Given the description of an element on the screen output the (x, y) to click on. 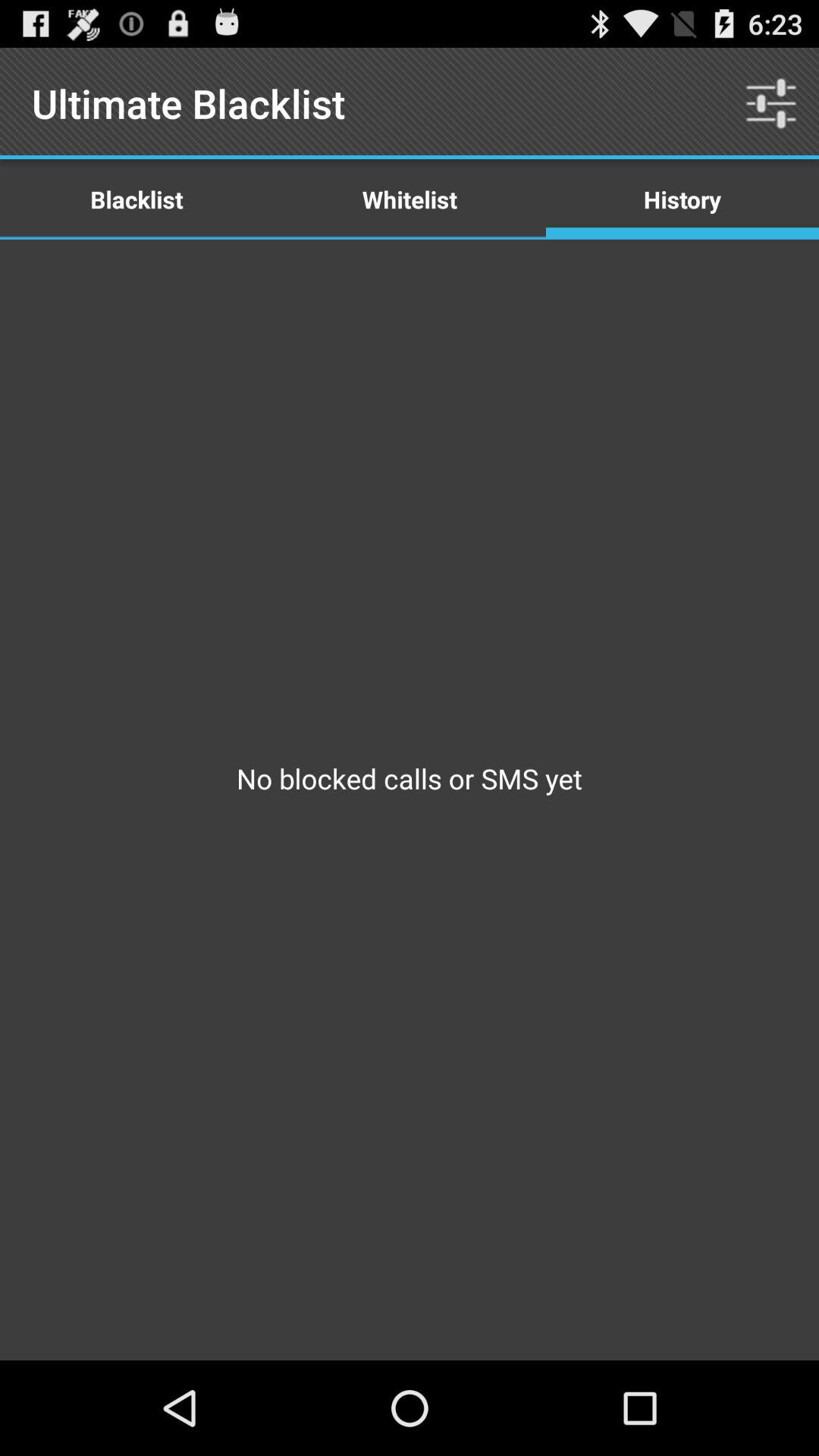
press whitelist icon (409, 199)
